Given the description of an element on the screen output the (x, y) to click on. 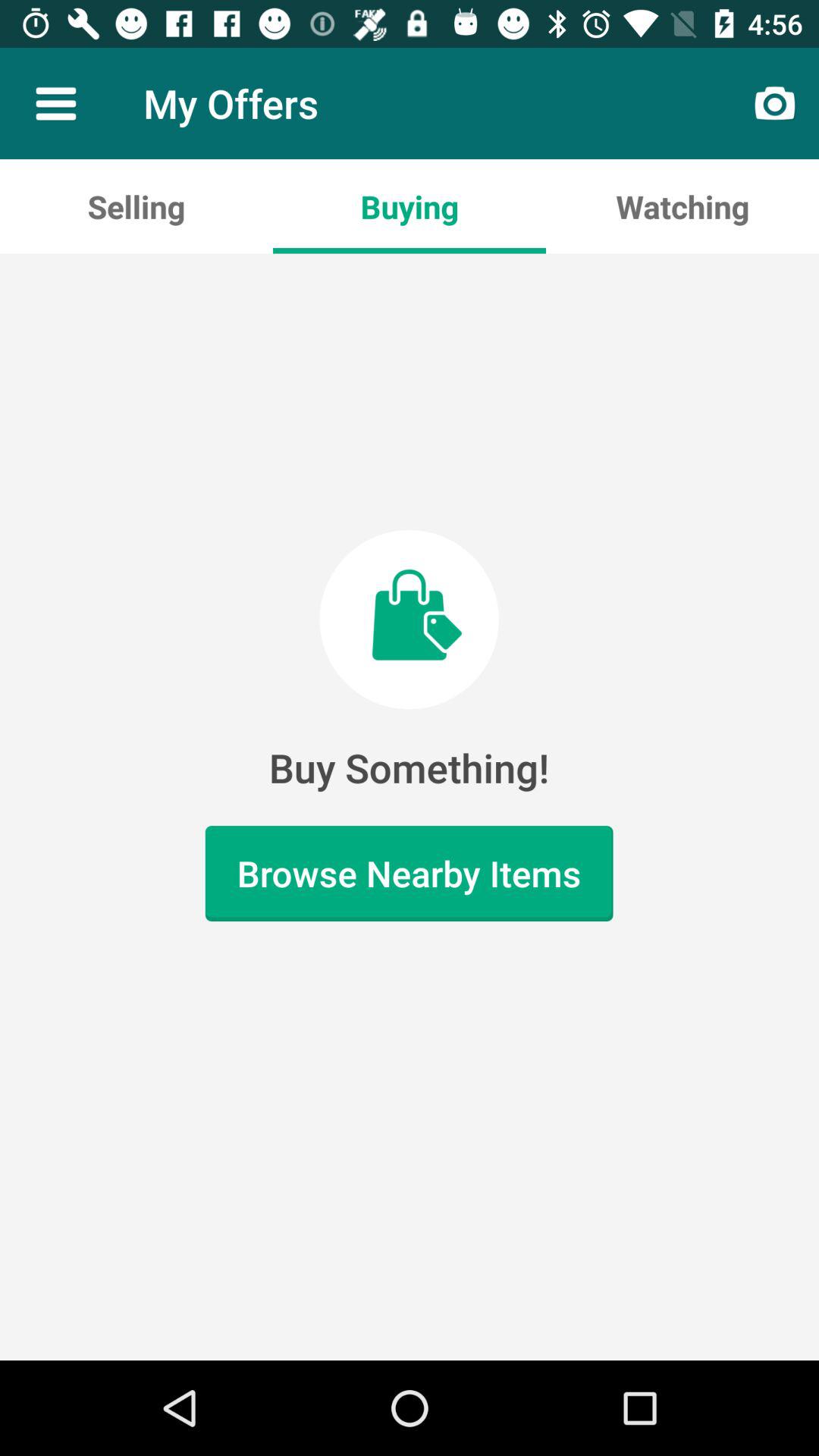
tap the icon above buy something! (136, 206)
